Given the description of an element on the screen output the (x, y) to click on. 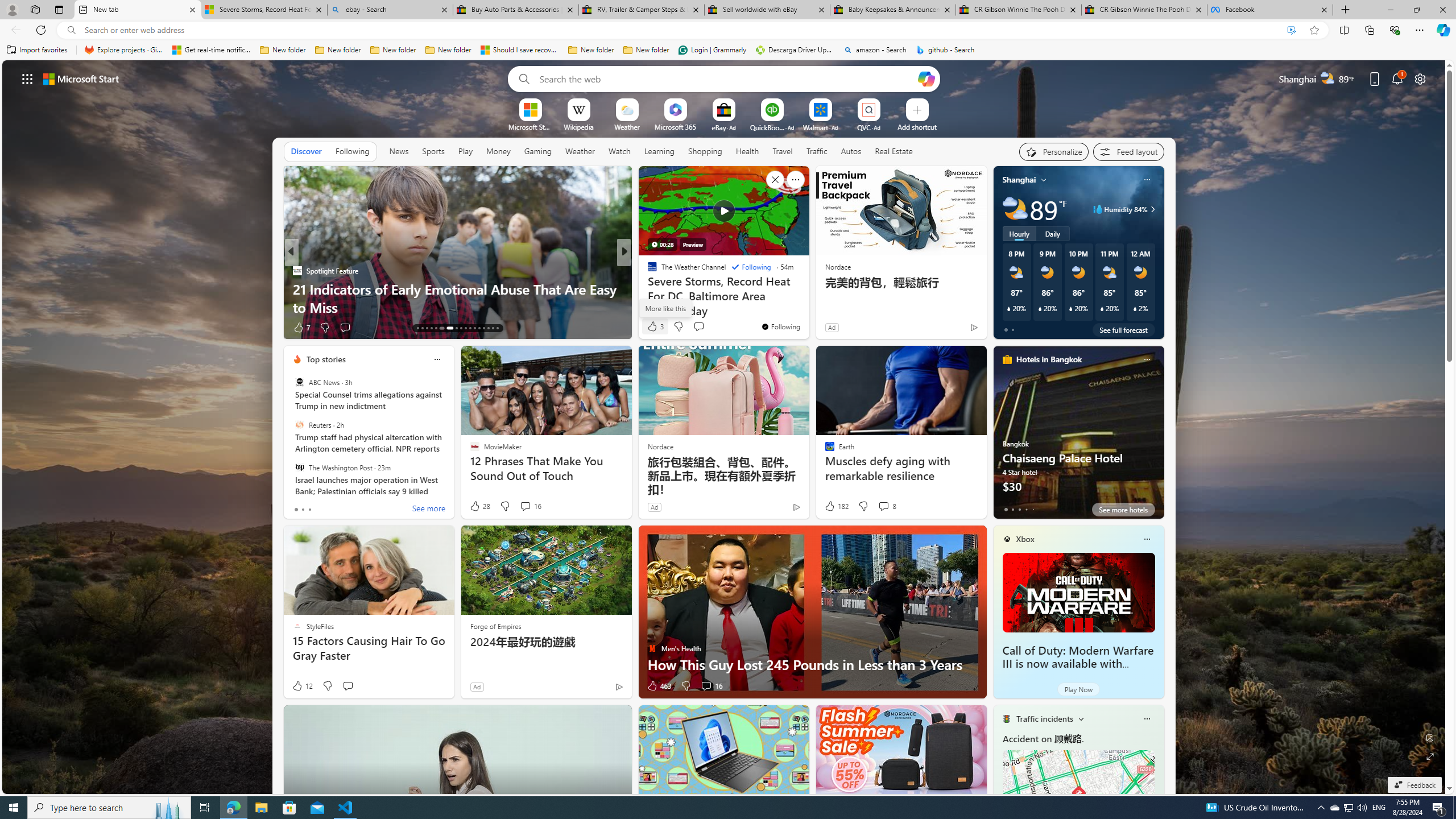
MUO (647, 288)
View comments 96 Comment (6, 327)
App launcher (27, 78)
AutomationID: tab-22 (465, 328)
How to get rid of body odor, according to medical experts (807, 298)
20 Activities People Over 60 Should Skip (807, 307)
tab-2 (1019, 509)
Daily (1052, 233)
3 Like (655, 326)
